Given the description of an element on the screen output the (x, y) to click on. 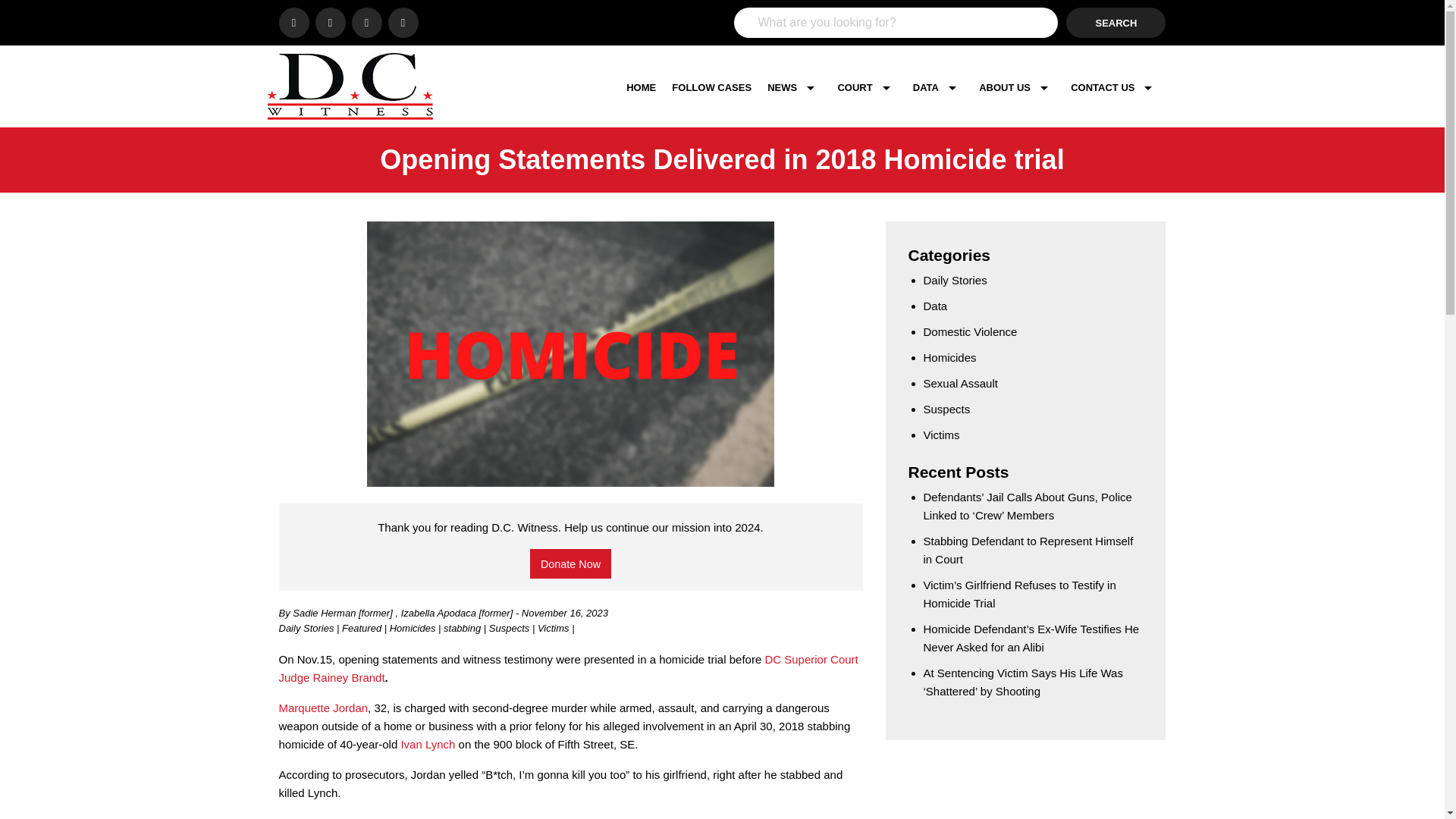
Search (1115, 22)
Donate Now (570, 563)
CONTACT US (1114, 87)
DATA (938, 87)
ABOUT US (1016, 87)
NEWS (794, 87)
Search (1115, 22)
Daily Stories (308, 627)
FOLLOW CASES (711, 87)
Search (1115, 22)
COURT (866, 87)
